Given the description of an element on the screen output the (x, y) to click on. 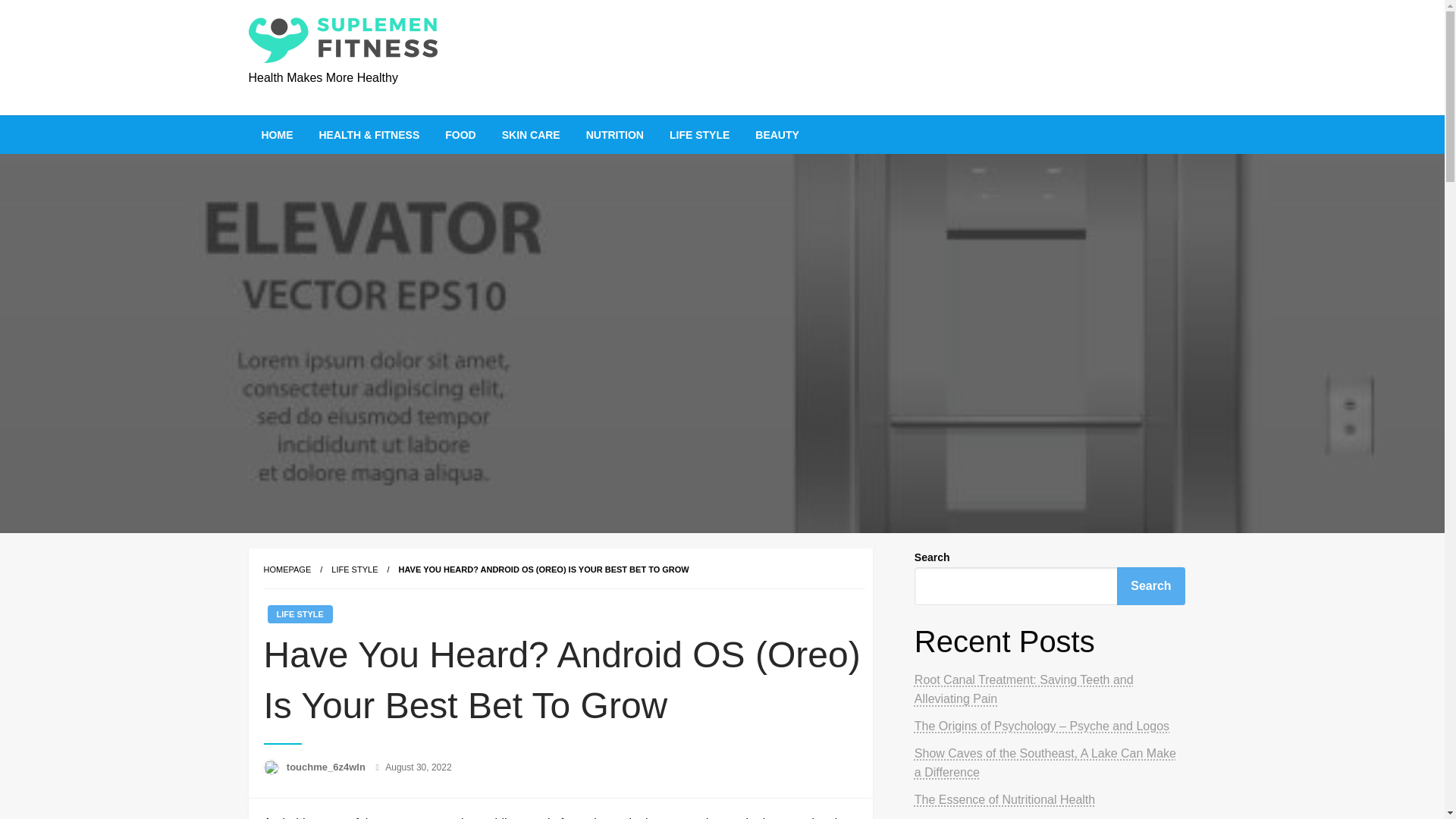
BEAUTY (777, 134)
FOOD (459, 134)
SKIN CARE (531, 134)
NUTRITION (614, 134)
LIFE STYLE (298, 614)
August 30, 2022 (418, 767)
LIFE STYLE (699, 134)
Homepage (287, 569)
LIFE STYLE (354, 569)
HOMEPAGE (287, 569)
Life Style (354, 569)
HOME (276, 134)
